Given the description of an element on the screen output the (x, y) to click on. 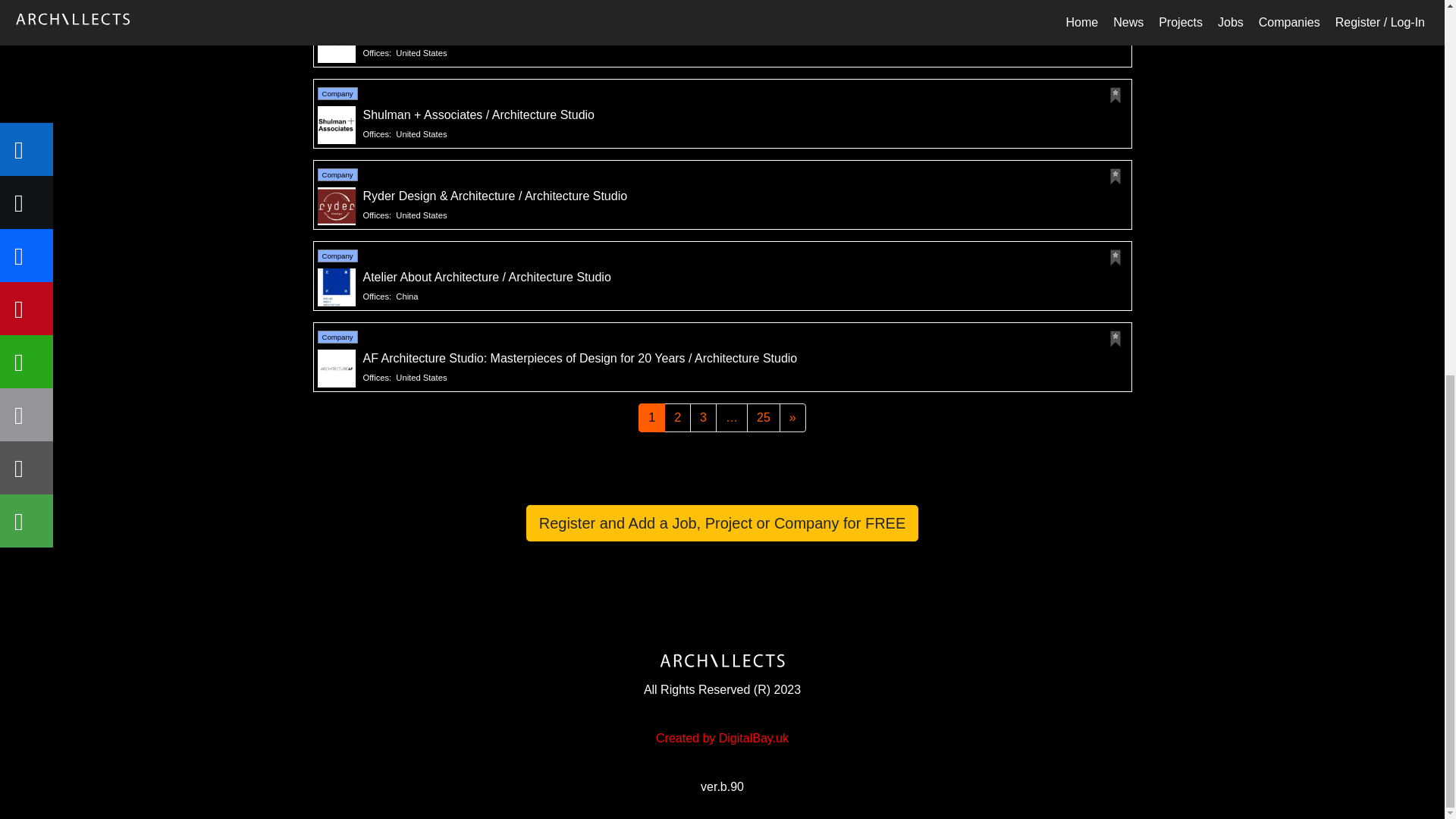
Register and Add a Job, Project or Company for FREE (721, 523)
25 (763, 417)
Created by DigitalBay.uk (722, 738)
3 (703, 417)
2 (676, 417)
